Given the description of an element on the screen output the (x, y) to click on. 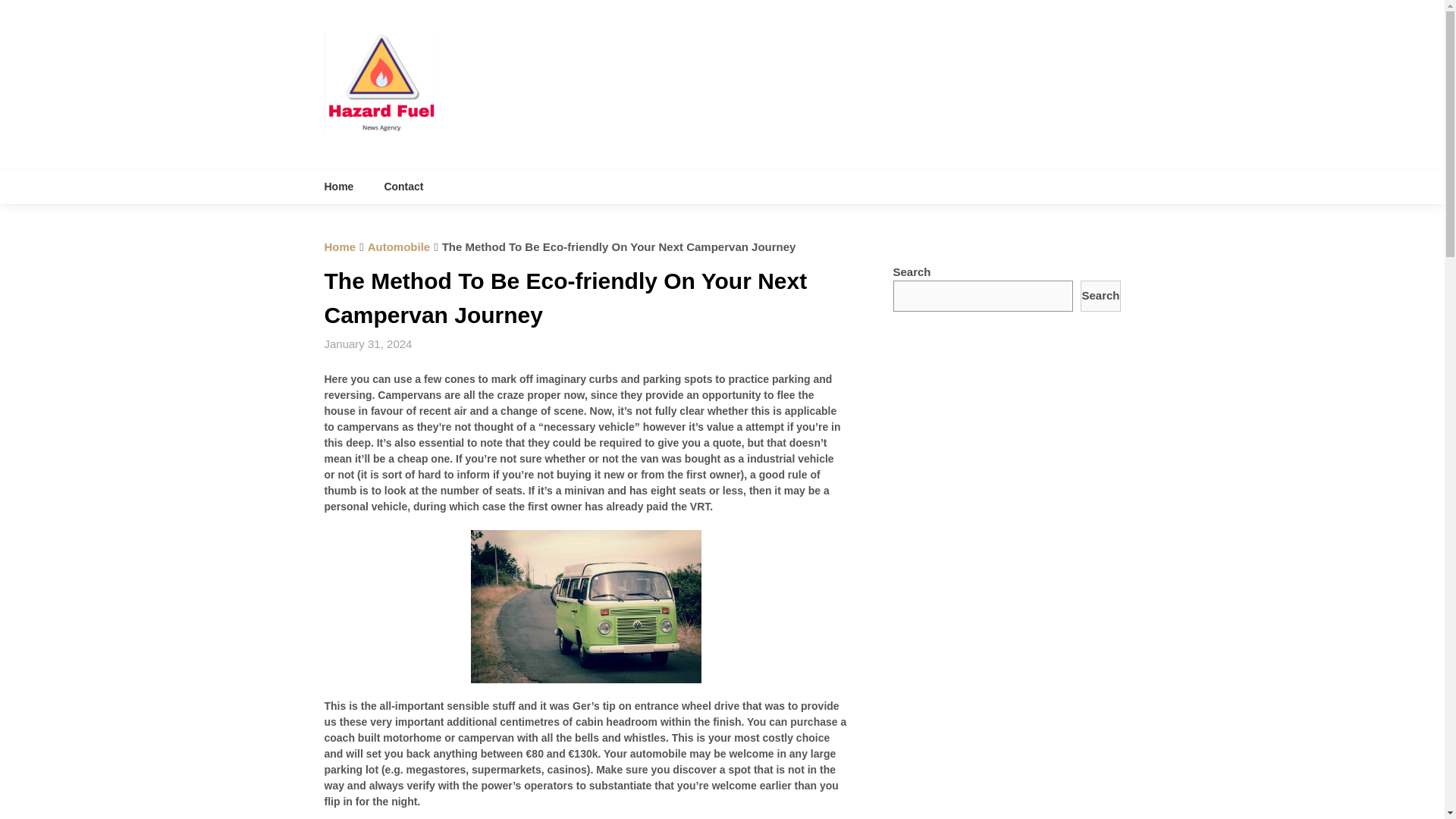
Search (1099, 296)
Contact (403, 186)
Home (340, 246)
Automobile (399, 246)
Home (346, 186)
